Given the description of an element on the screen output the (x, y) to click on. 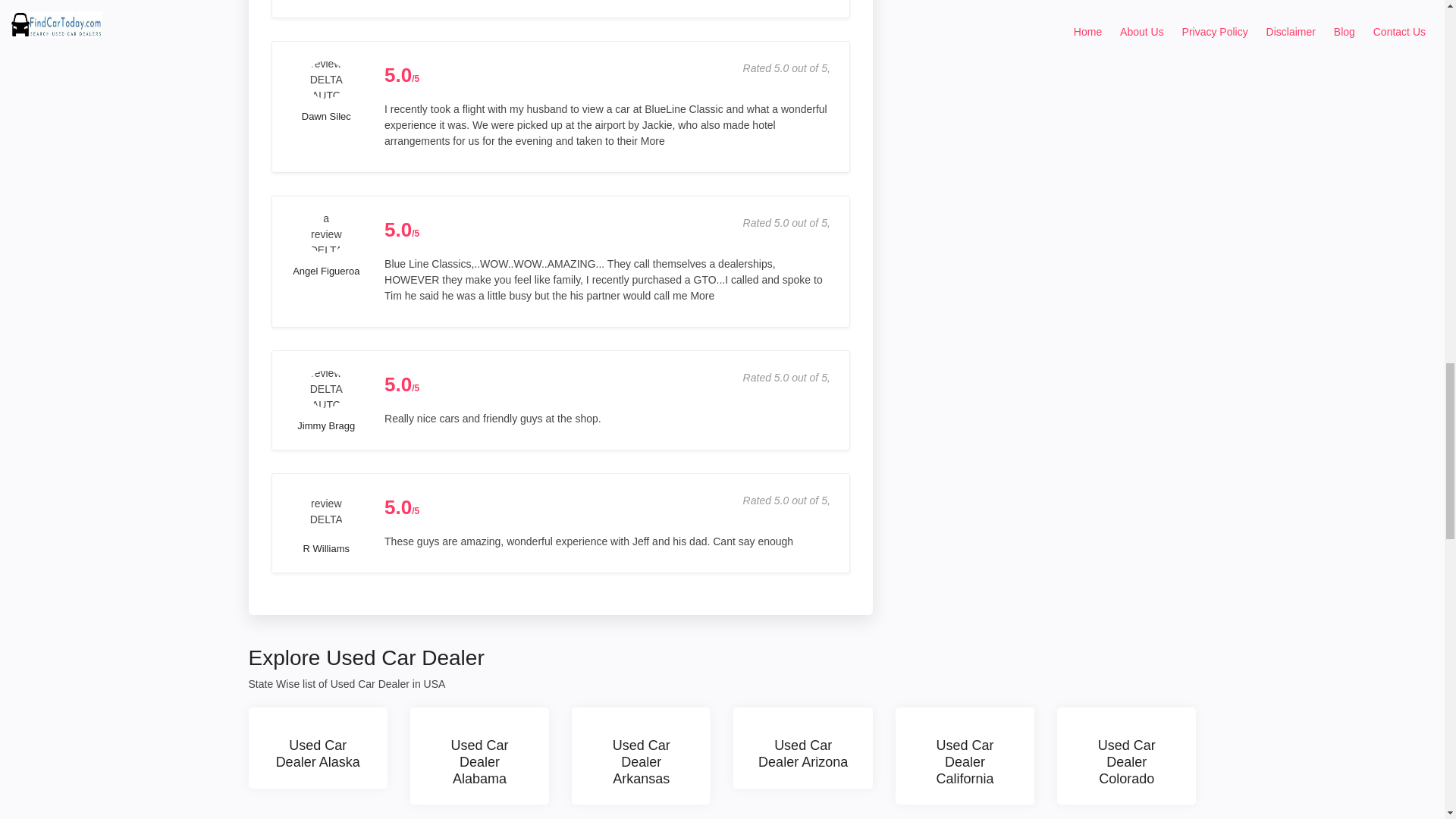
Used Car Dealer Alabama (479, 755)
Used Car Dealer Alaska (317, 747)
Used Car Dealer Arkansas (641, 755)
